Given the description of an element on the screen output the (x, y) to click on. 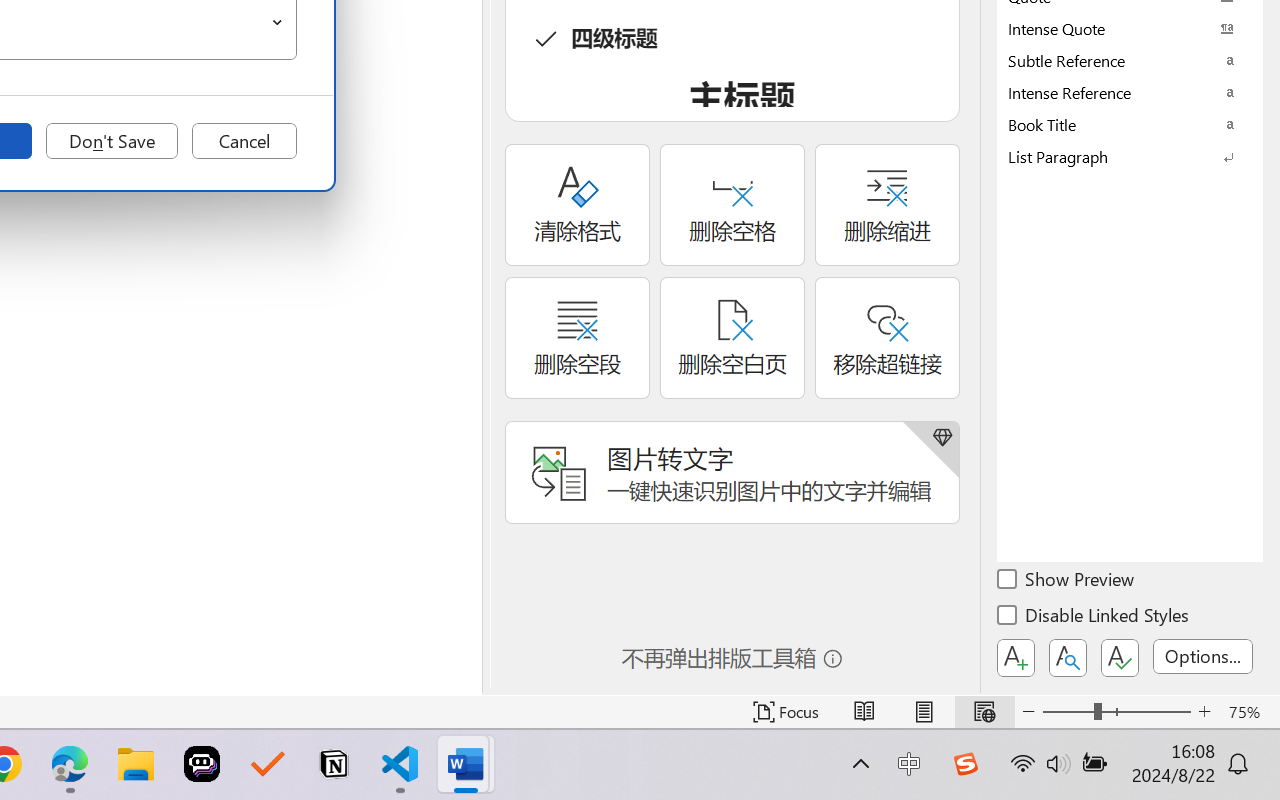
Focus  (786, 712)
Read Mode (864, 712)
Cancel (244, 141)
Print Layout (924, 712)
